Given the description of an element on the screen output the (x, y) to click on. 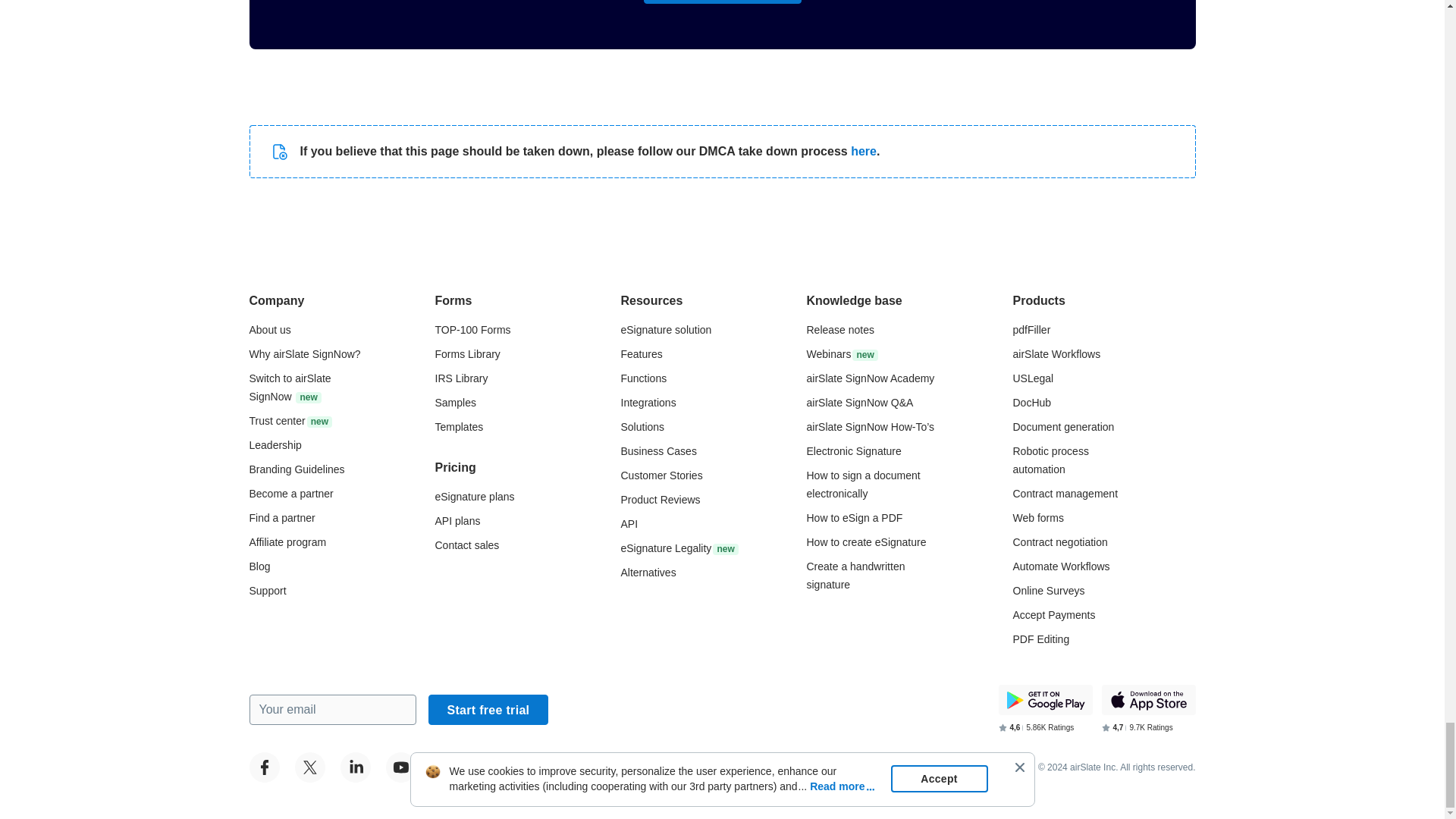
Go to the affiliate program page (287, 541)
Go to the leadership page (274, 444)
Go to the support center (266, 590)
Go to the  airSlate signNow  Blog (258, 566)
Go to the Migrate page (289, 387)
Go to the top 100 forms page (473, 329)
Go to the  airSlate signNow  pricing page (475, 496)
Go to the trust center page (289, 420)
Go to the  airSlate signNow  API pricing page (457, 521)
Go to the  airSlate signNow  forms library page (467, 354)
Go to the partners page (281, 517)
Go to the airSlate partner portal (290, 493)
Go to the Why  airSlate signNow ? page (303, 354)
Go to the  airSlate signNow  templates page (459, 426)
Go to the  airSlate signNow  irs library page (461, 378)
